Given the description of an element on the screen output the (x, y) to click on. 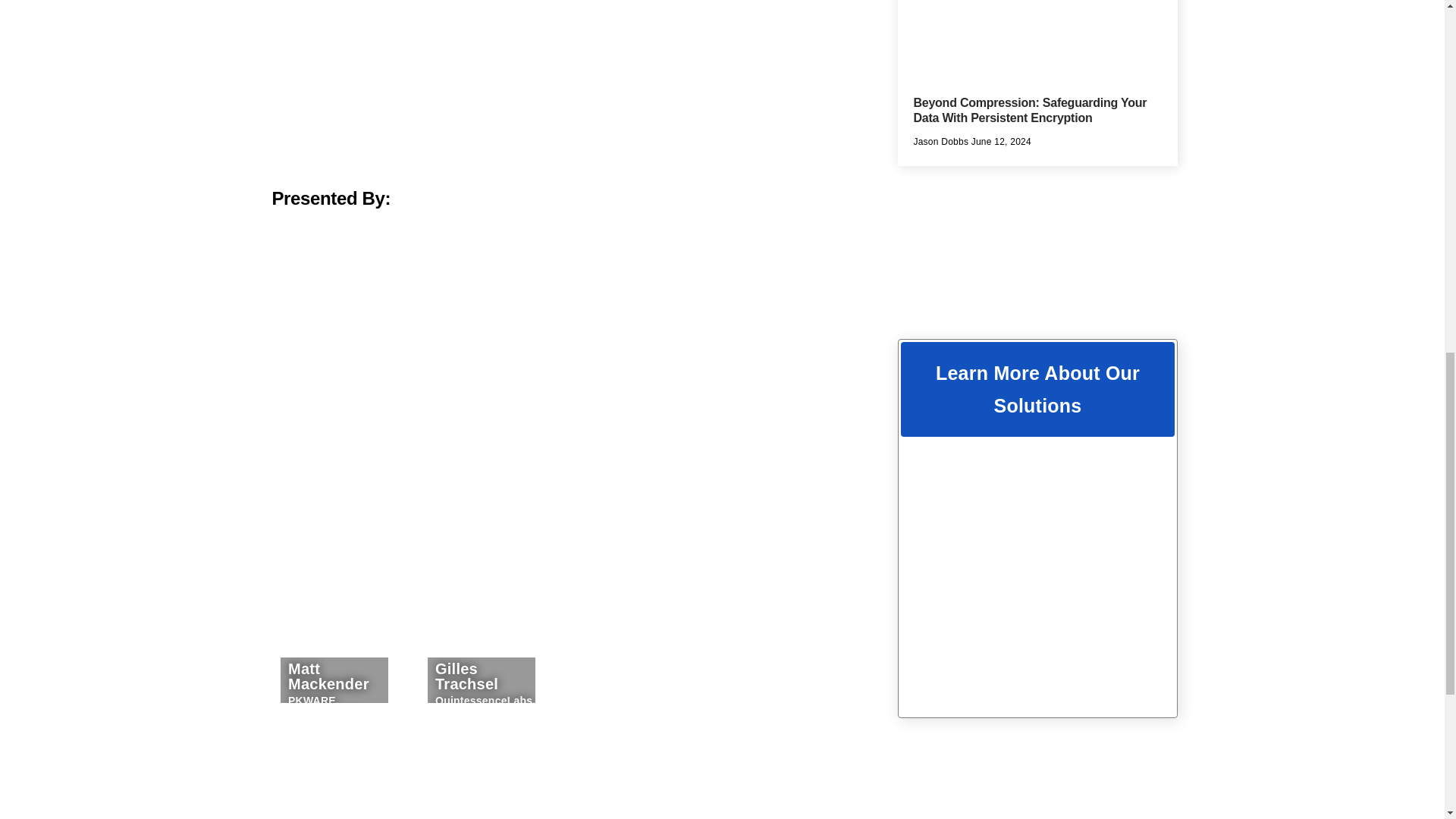
Presented By: (554, 218)
BrightTalk-Crypto-Agility-Webinar-with-PKWare-Feb23.mp4 (554, 86)
